Given the description of an element on the screen output the (x, y) to click on. 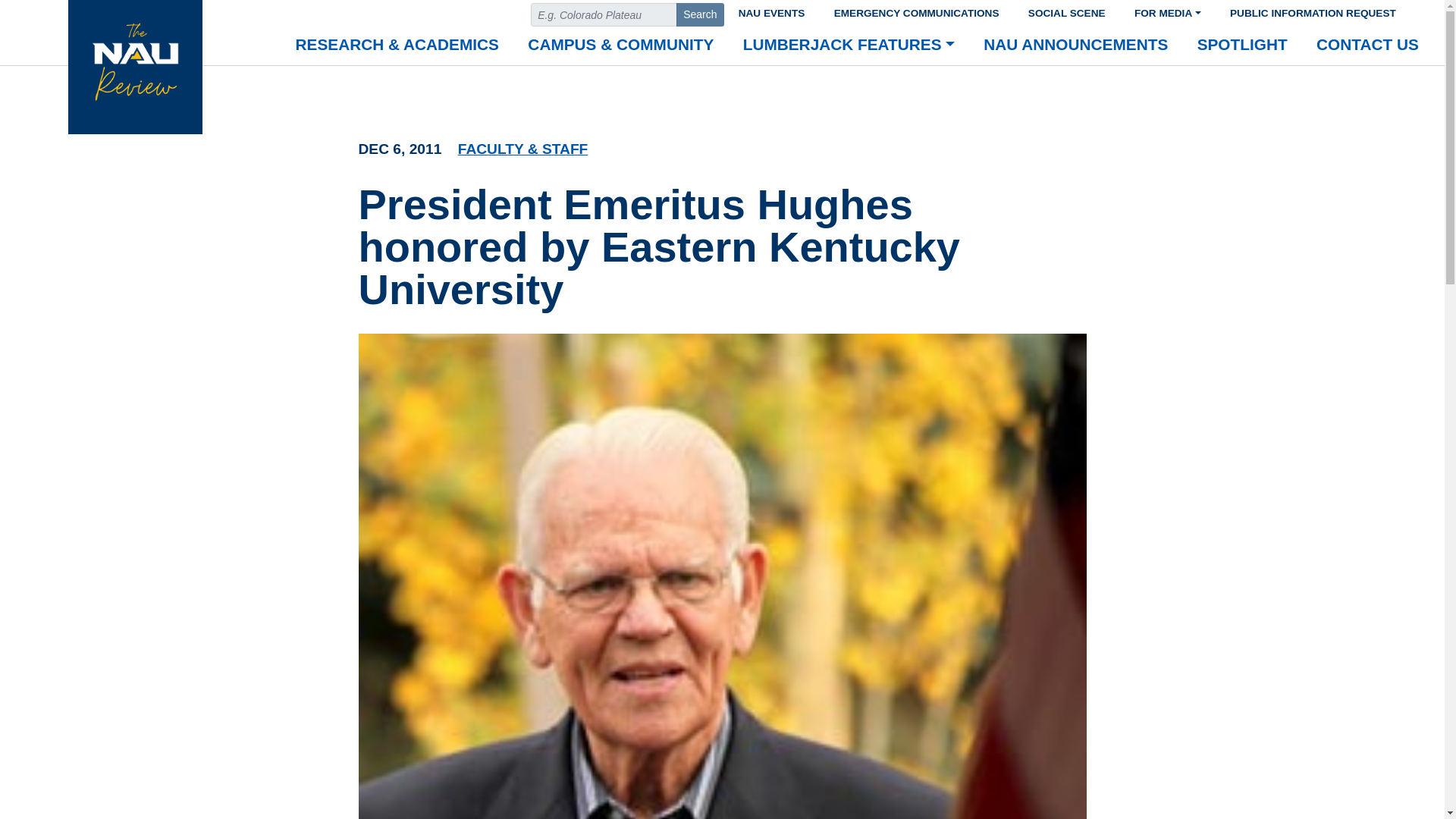
NAU EVENTS (770, 10)
SOCIAL SCENE (1066, 10)
CONTACT US (1366, 45)
PUBLIC INFORMATION REQUEST (1312, 10)
NAU ANNOUNCEMENTS (1075, 45)
FOR MEDIA (1167, 10)
For Media (1167, 10)
LUMBERJACK FEATURES (848, 45)
NAU Events (770, 10)
Emergency Communications (915, 10)
Search (700, 14)
Public Information Request (1312, 10)
SPOTLIGHT (1241, 45)
Lumberjack Features (848, 45)
Search (700, 14)
